Given the description of an element on the screen output the (x, y) to click on. 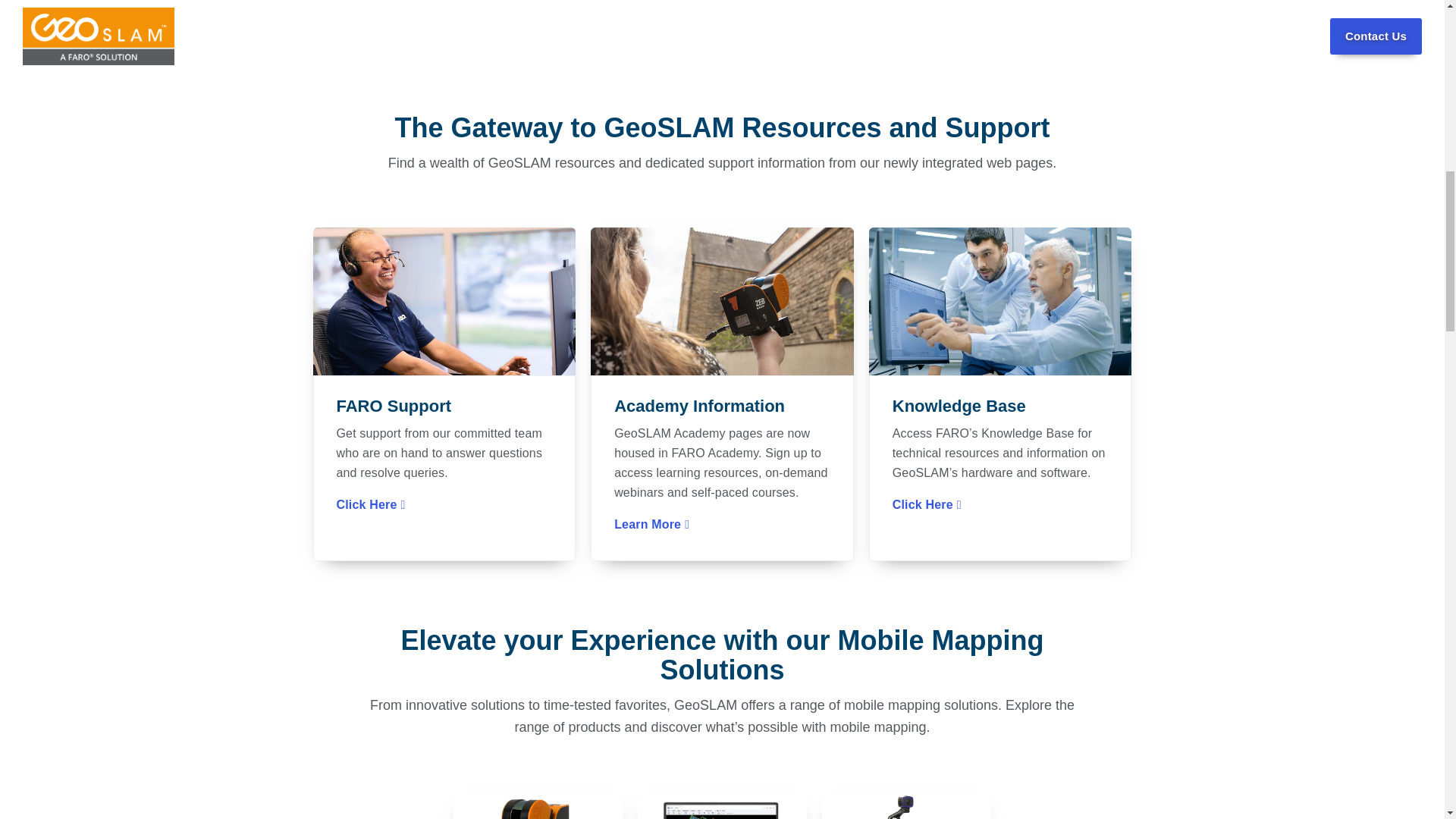
Click Here (926, 504)
Knowledge Base (1000, 406)
FARO Support (444, 406)
Click Here (371, 504)
Academy Information (721, 406)
Learn More (651, 524)
